Given the description of an element on the screen output the (x, y) to click on. 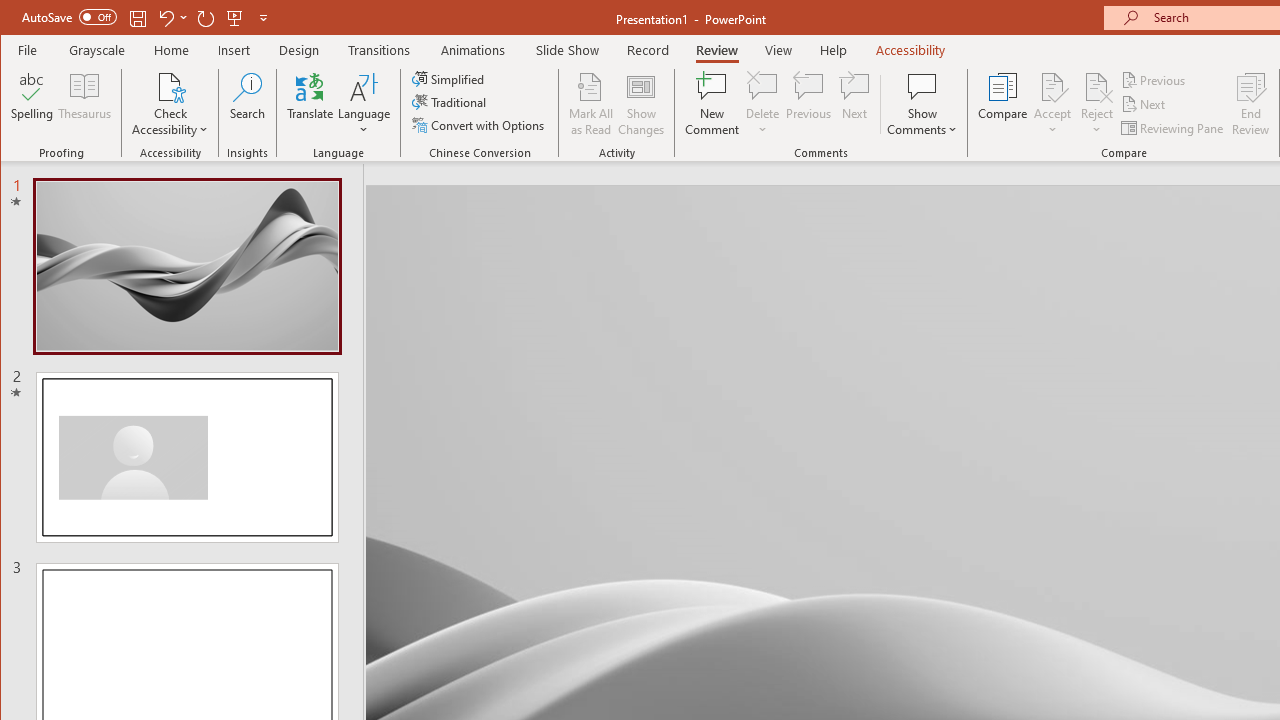
Traditional (450, 101)
Language (363, 104)
New Comment (712, 104)
Compare (1002, 104)
End Review (1251, 104)
